Given the description of an element on the screen output the (x, y) to click on. 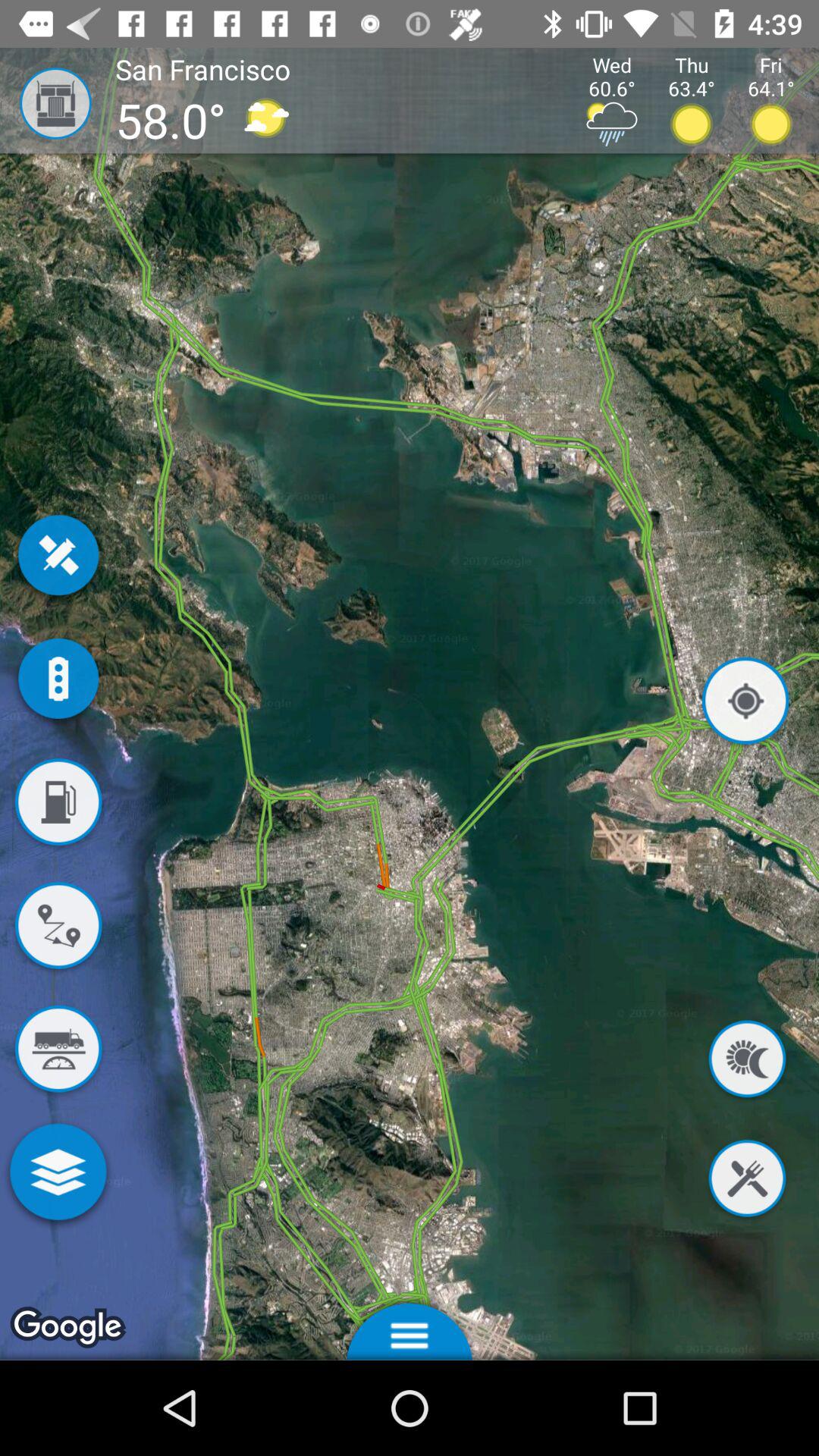
find truck weighing station (57, 1051)
